Given the description of an element on the screen output the (x, y) to click on. 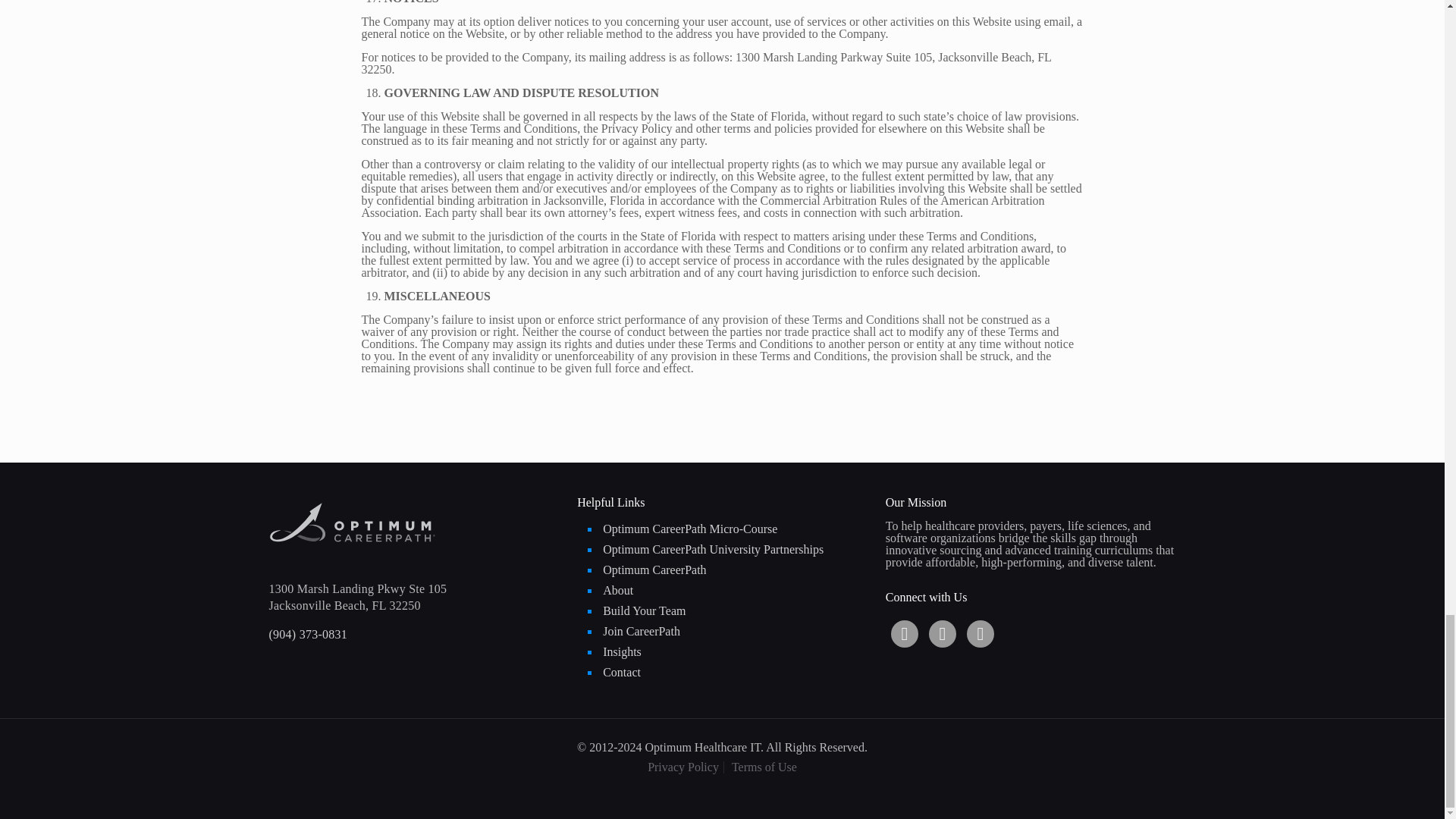
Optimum CareerPath (733, 571)
Join CareerPath (733, 632)
Contact (733, 673)
twitter (942, 633)
Terms of Use (764, 766)
linkedin (904, 633)
Optimum CareerPath Micro-Course (733, 530)
Privacy Policy (683, 766)
Optimum CareerPath University Partnerships (733, 550)
About (733, 591)
youtube (980, 633)
Insights (733, 652)
Build Your Team (733, 611)
